Given the description of an element on the screen output the (x, y) to click on. 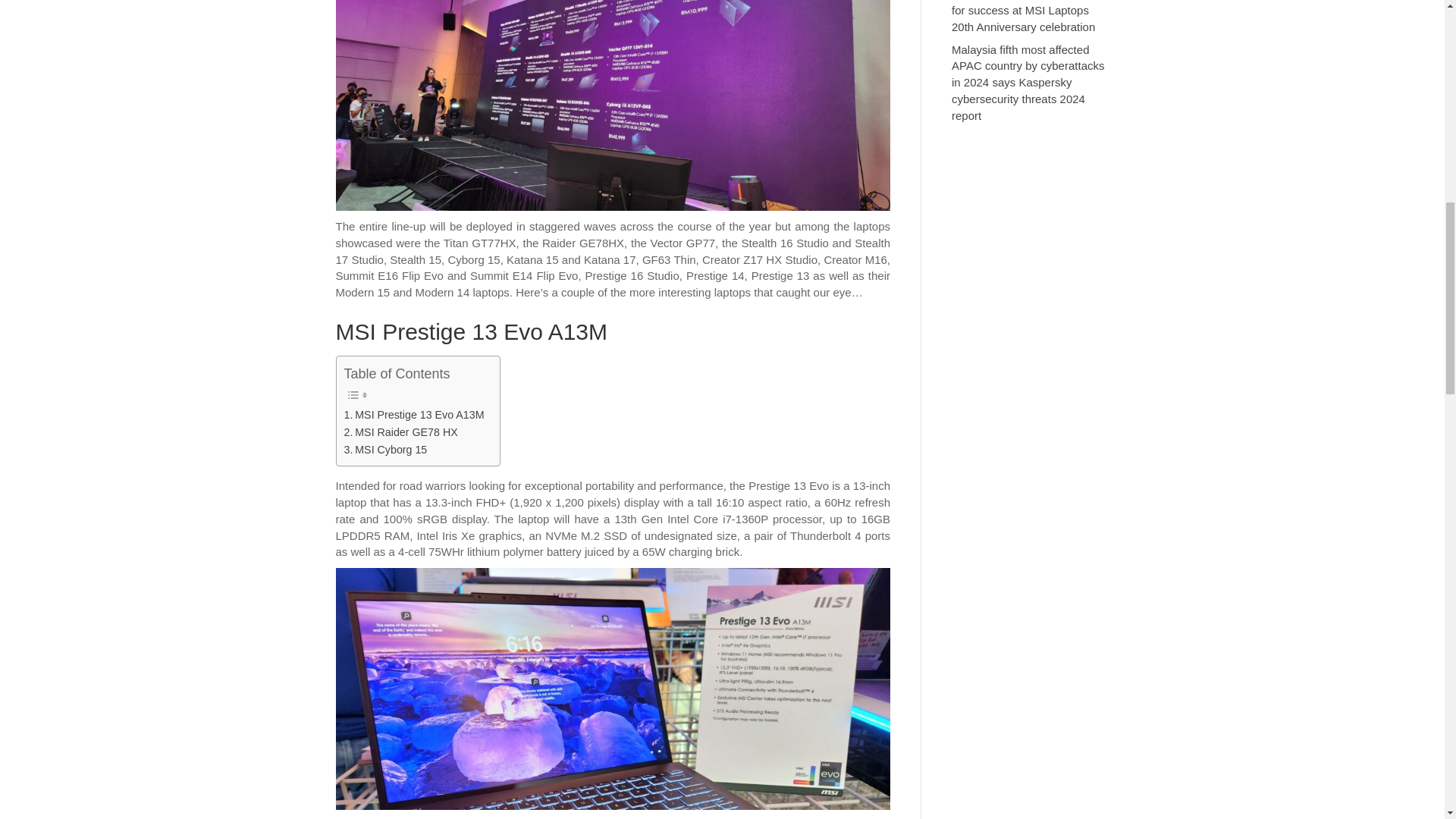
MSI Cyborg 15 (385, 449)
MSI Cyborg 15 (385, 449)
MSI Prestige 13 Evo A13M (413, 415)
MSI Prestige 13 Evo A13M (413, 415)
MSI Raider GE78 HX (400, 432)
MSI Raider GE78 HX (400, 432)
